Given the description of an element on the screen output the (x, y) to click on. 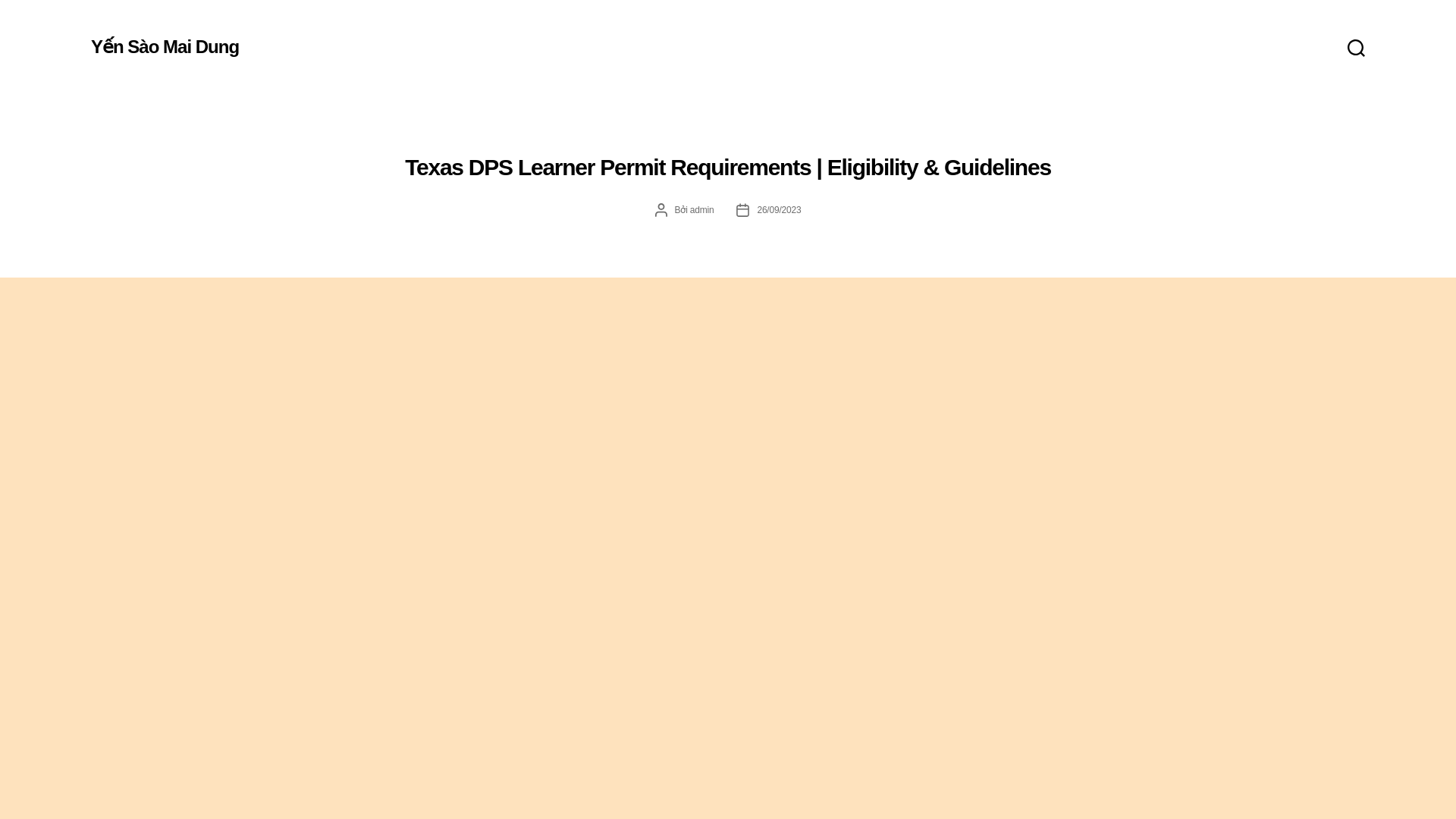
admin (702, 209)
